Given the description of an element on the screen output the (x, y) to click on. 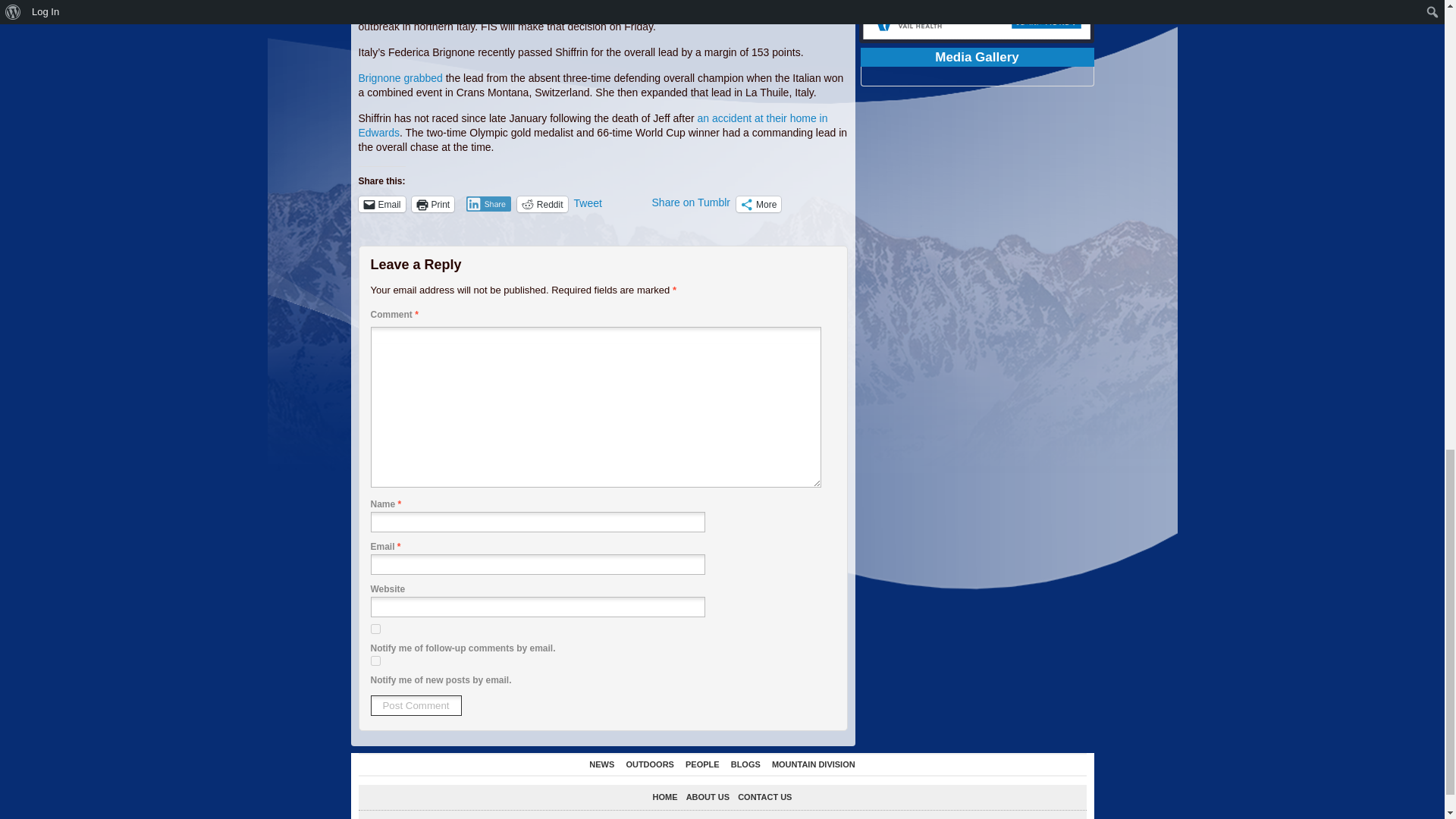
Brignone grabbed (400, 78)
Click to print (433, 204)
may be cancelled (624, 11)
subscribe (374, 628)
Click to email a link to a friend (381, 204)
Email (381, 204)
subscribe (374, 660)
Click to share on Reddit (541, 204)
Post Comment (415, 705)
Print (433, 204)
an accident at their home in Edwards (592, 125)
Share (488, 203)
Share on Tumblr (691, 202)
Reddit (541, 204)
